Given the description of an element on the screen output the (x, y) to click on. 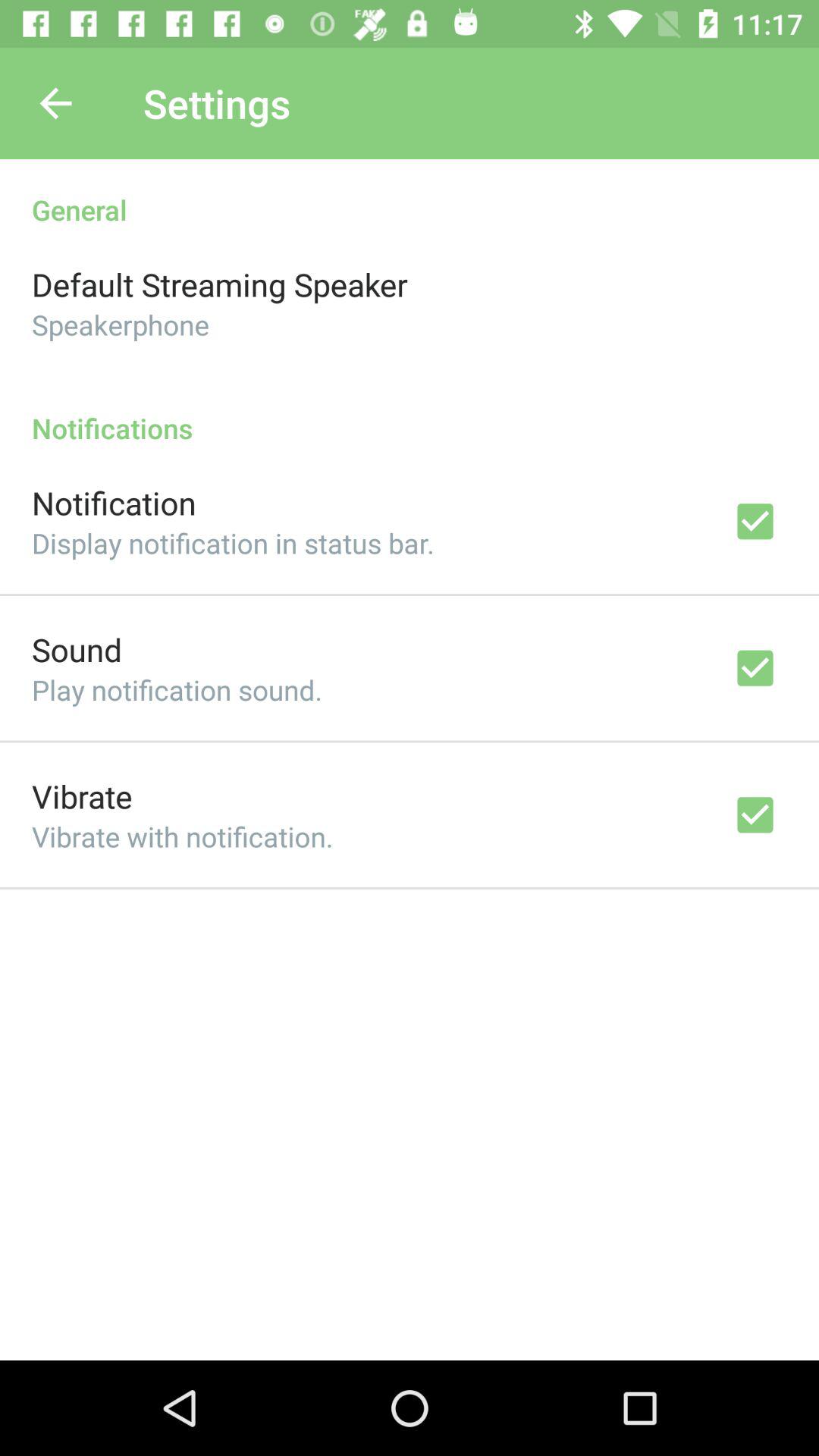
click speakerphone icon (120, 324)
